Given the description of an element on the screen output the (x, y) to click on. 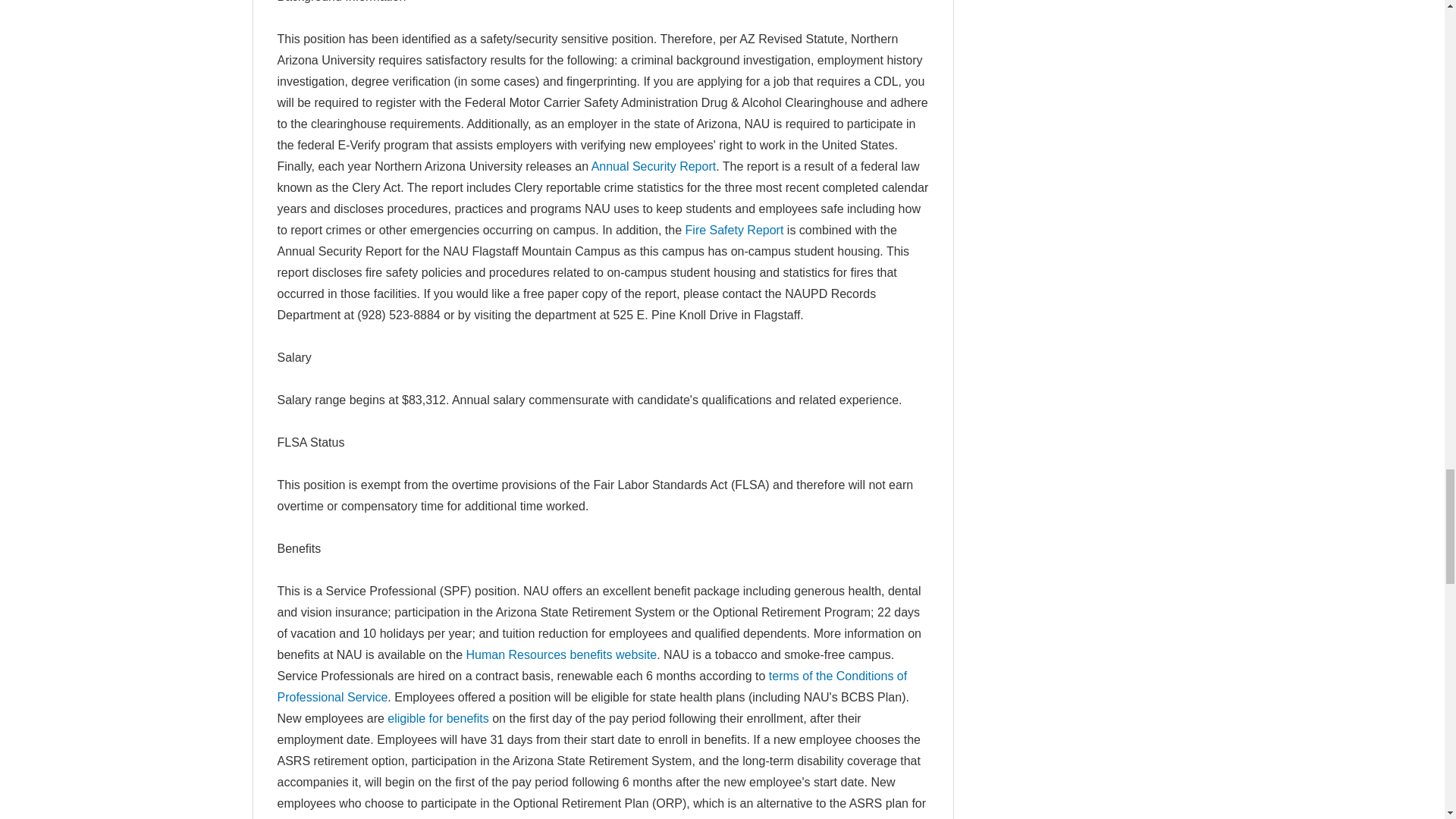
eligible for benefits (437, 717)
terms of the Conditions of Professional Service (592, 686)
Fire Safety Report (734, 229)
Annual Security Report (653, 165)
Human Resources benefits website (561, 654)
